Given the description of an element on the screen output the (x, y) to click on. 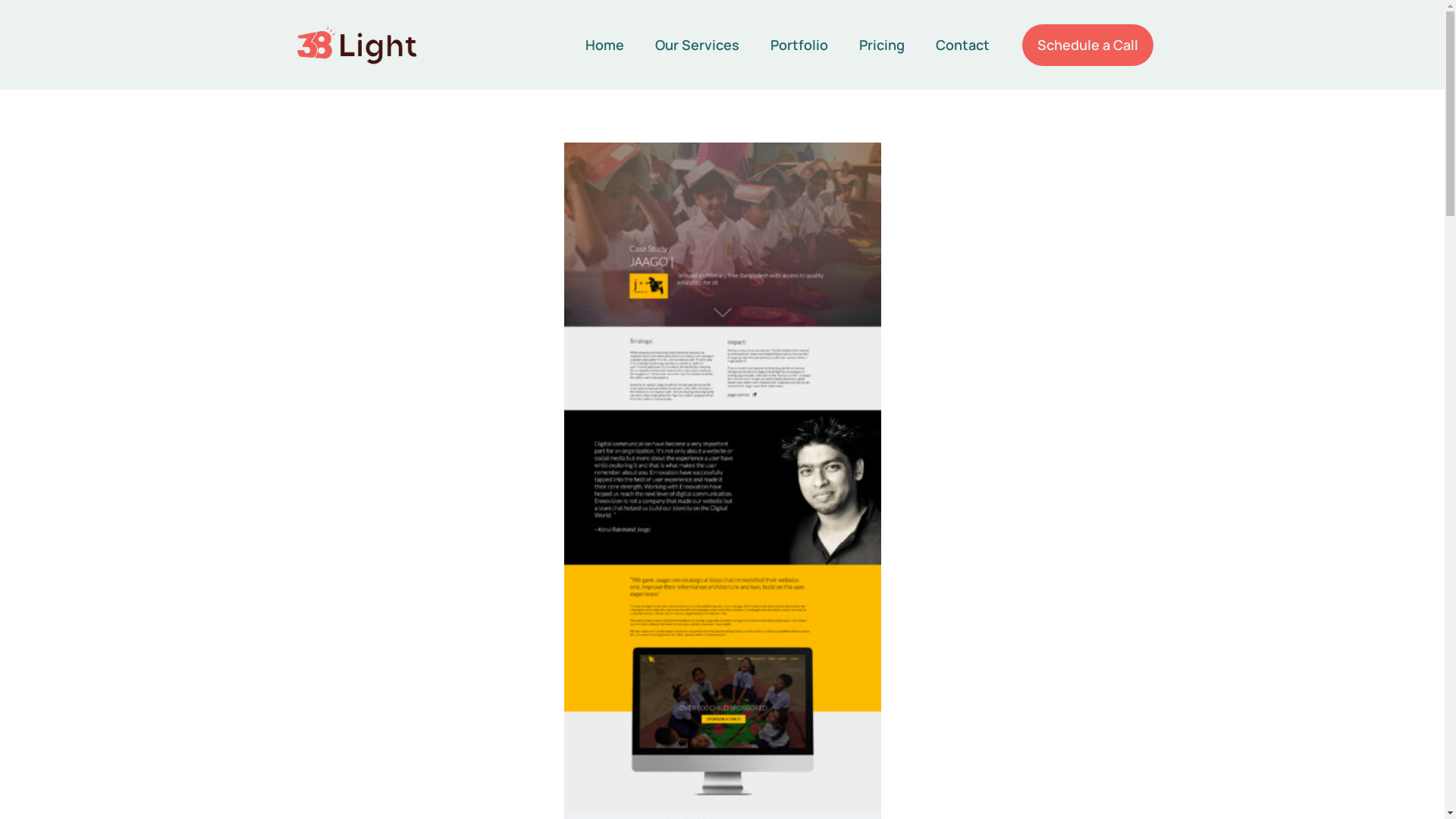
Pricing Element type: text (881, 44)
Contact Element type: text (962, 44)
Portfolio Element type: text (799, 44)
Our Services Element type: text (696, 44)
Home Element type: text (604, 44)
Schedule a Call Element type: text (1087, 44)
